Given the description of an element on the screen output the (x, y) to click on. 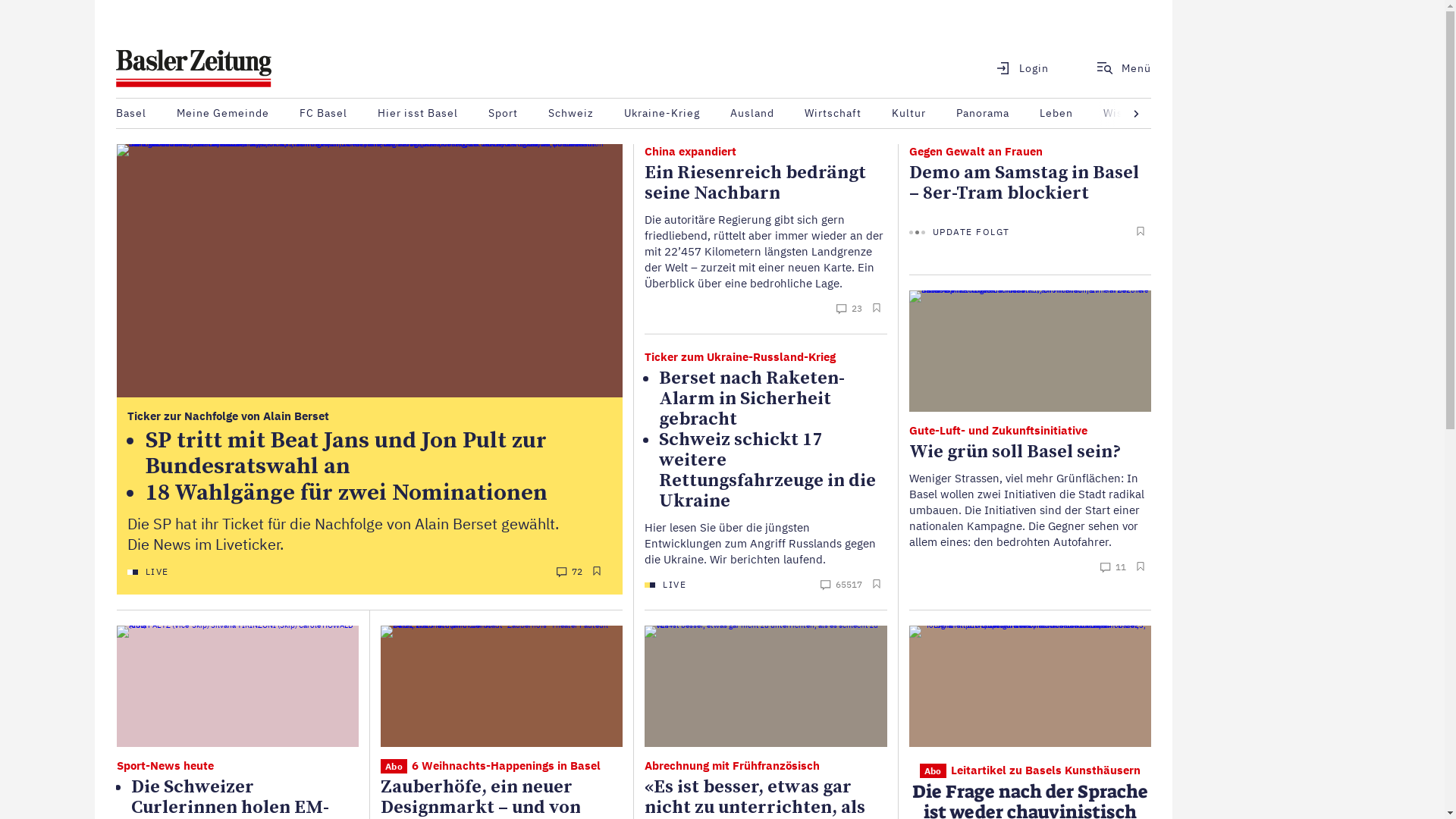
Kultur Element type: text (908, 113)
Artikel merken Element type: hover (594, 571)
Wissen Element type: text (1122, 113)
FC Basel Element type: text (323, 113)
Meine Gemeinde Element type: text (222, 113)
Schweiz Element type: text (570, 113)
Basel Element type: text (131, 113)
Das Magazin Element type: text (1296, 113)
Artikel merken Element type: hover (1138, 231)
Hier isst Basel Element type: text (417, 113)
Leben Element type: text (1056, 113)
Zum Hauptinhalt springen Element type: text (94, 0)
Panorama Element type: text (982, 113)
Meinungen Element type: text (1203, 113)
Ausland Element type: text (752, 113)
Artikel merken Element type: hover (1138, 566)
Artikel merken Element type: hover (873, 308)
Wirtschaft Element type: text (832, 113)
Artikel merken Element type: hover (873, 584)
Login Element type: text (1013, 68)
Sport Element type: text (502, 113)
Ukraine-Krieg Element type: text (661, 113)
